Given the description of an element on the screen output the (x, y) to click on. 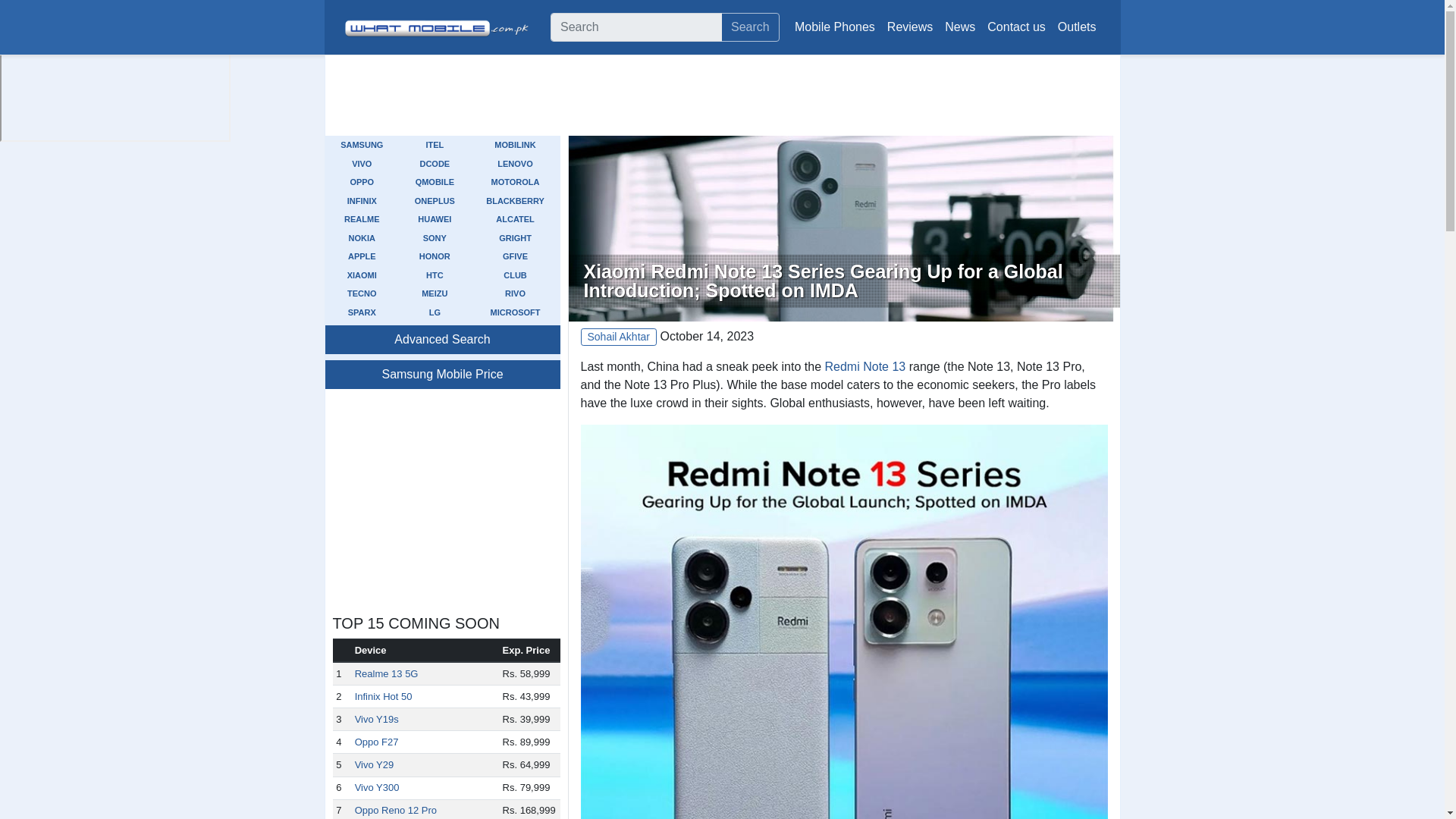
News (960, 27)
Outlets (1076, 27)
Contact us (1016, 27)
Mobile Phones (834, 27)
Reviews (909, 27)
Search (749, 27)
Advertisement (843, 95)
